Given the description of an element on the screen output the (x, y) to click on. 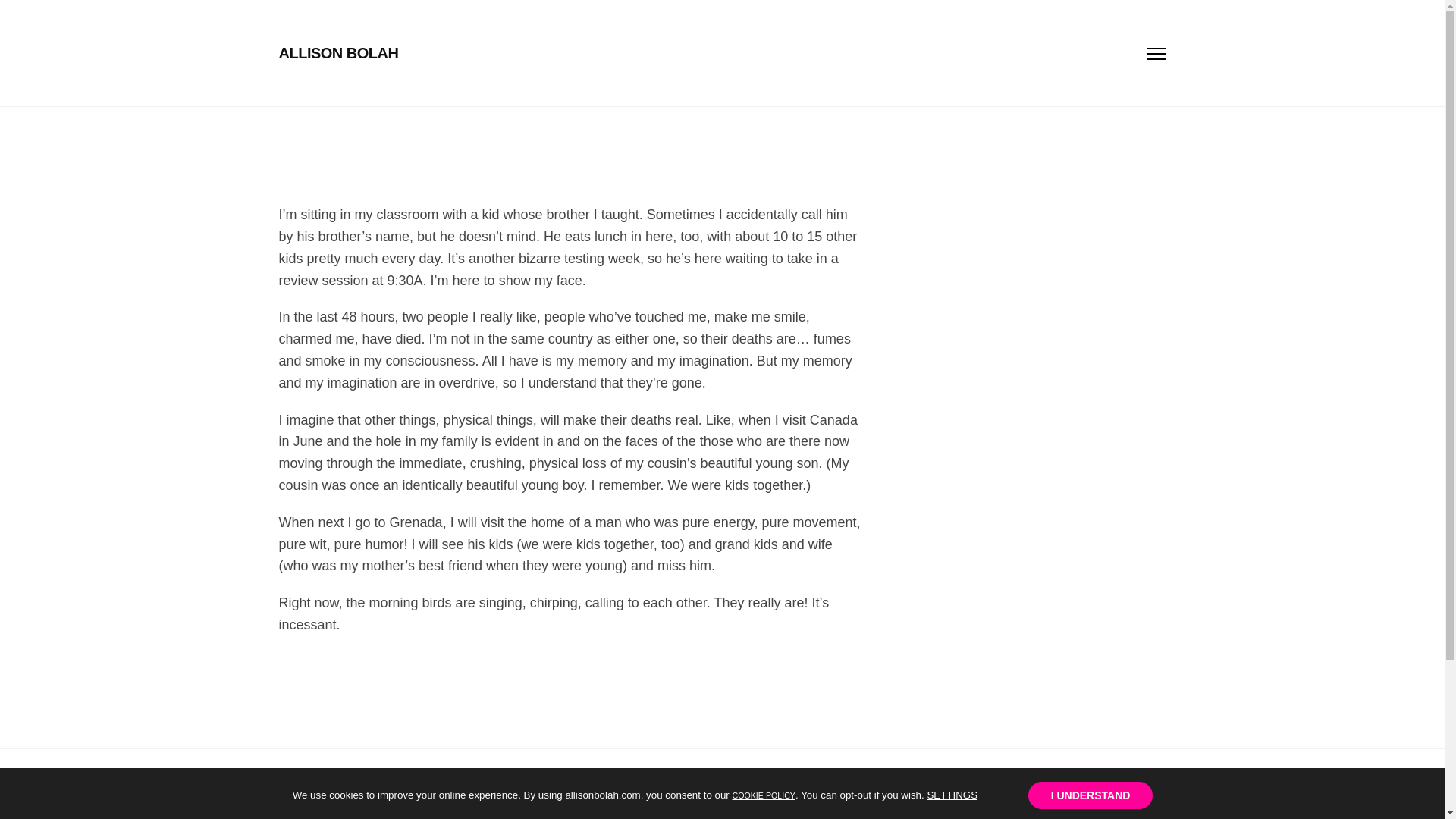
ALLISON BOLAH (338, 53)
SETTINGS (951, 795)
ALLISON BOLAH (338, 53)
I UNDERSTAND (1090, 795)
COOKIE POLICY (763, 793)
